Given the description of an element on the screen output the (x, y) to click on. 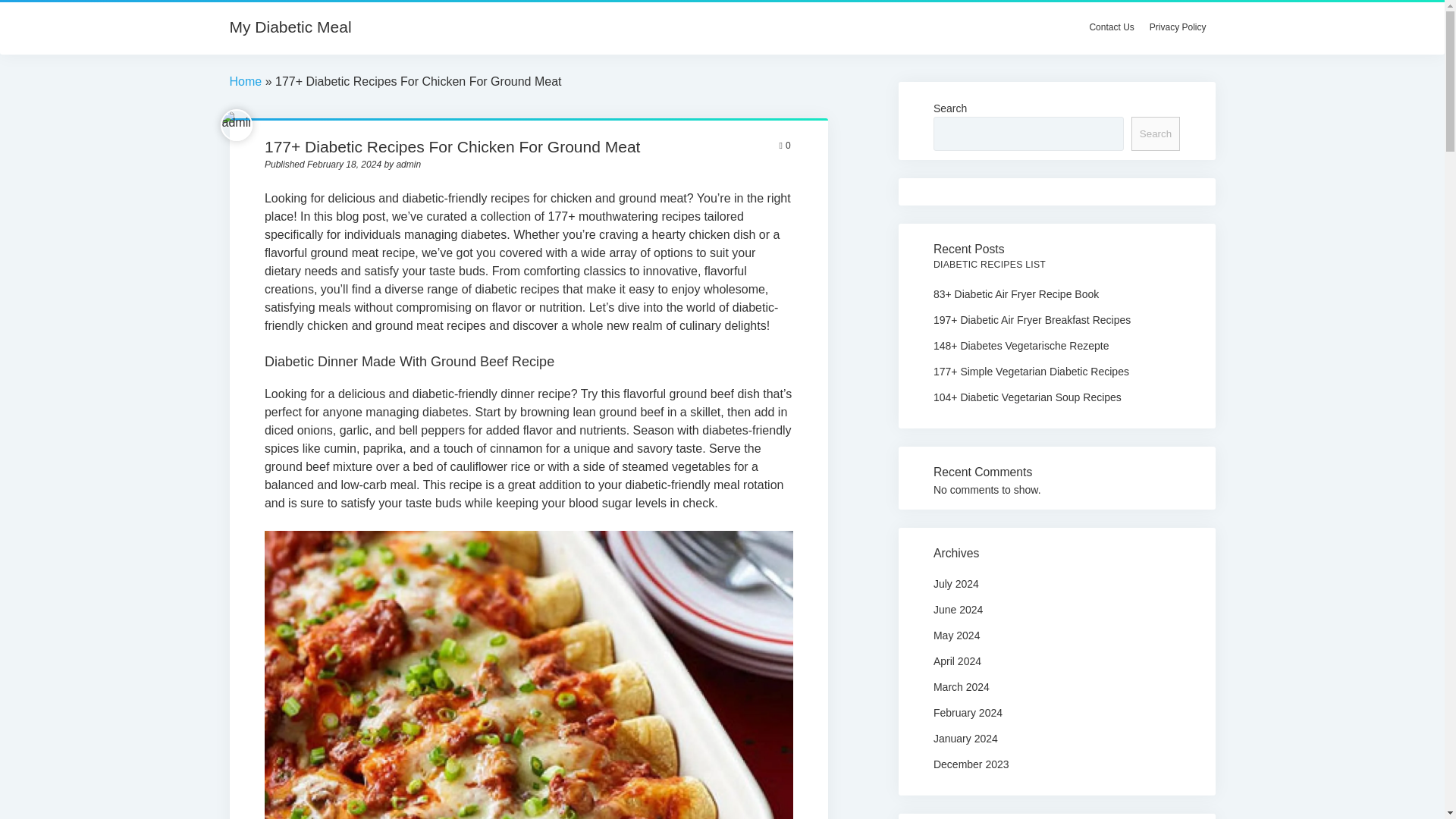
January 2024 (965, 738)
March 2024 (961, 686)
July 2024 (955, 583)
Contact Us (1111, 26)
Search (1155, 133)
February 2024 (968, 712)
June 2024 (957, 609)
May 2024 (956, 635)
April 2024 (957, 661)
Home (245, 81)
